Given the description of an element on the screen output the (x, y) to click on. 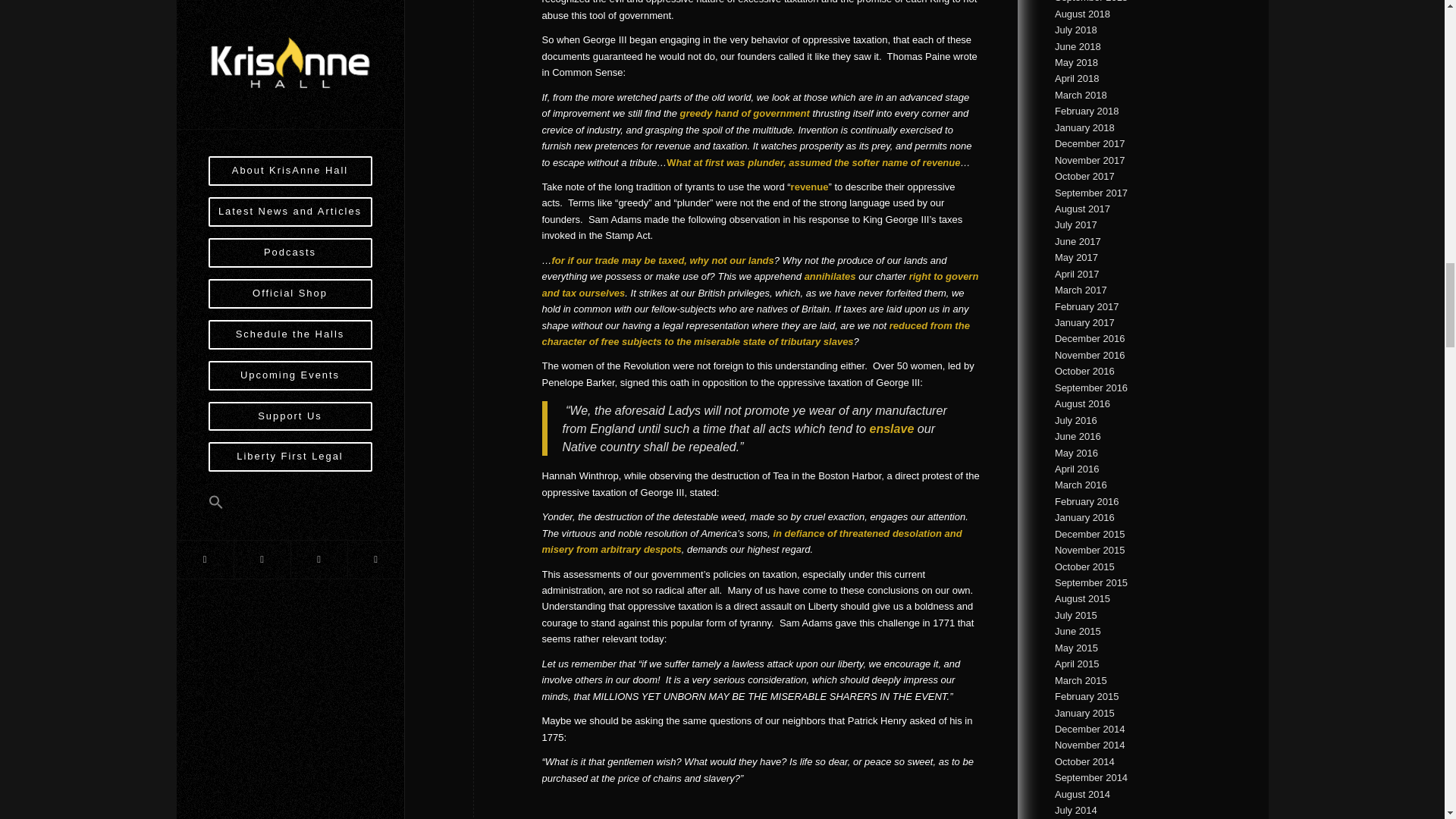
revenue (809, 186)
